Given the description of an element on the screen output the (x, y) to click on. 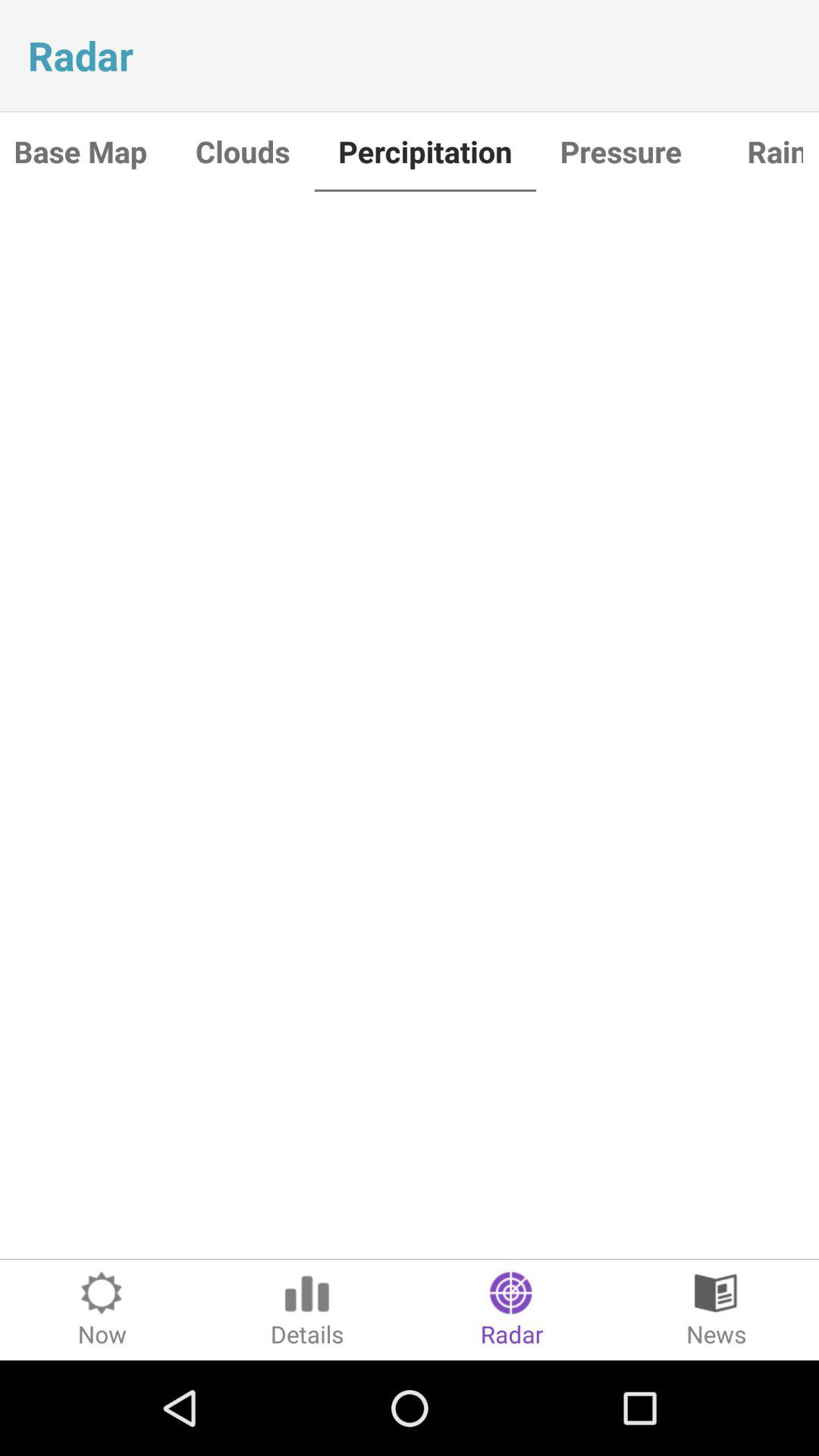
launch the item to the left of the radar icon (306, 1310)
